Given the description of an element on the screen output the (x, y) to click on. 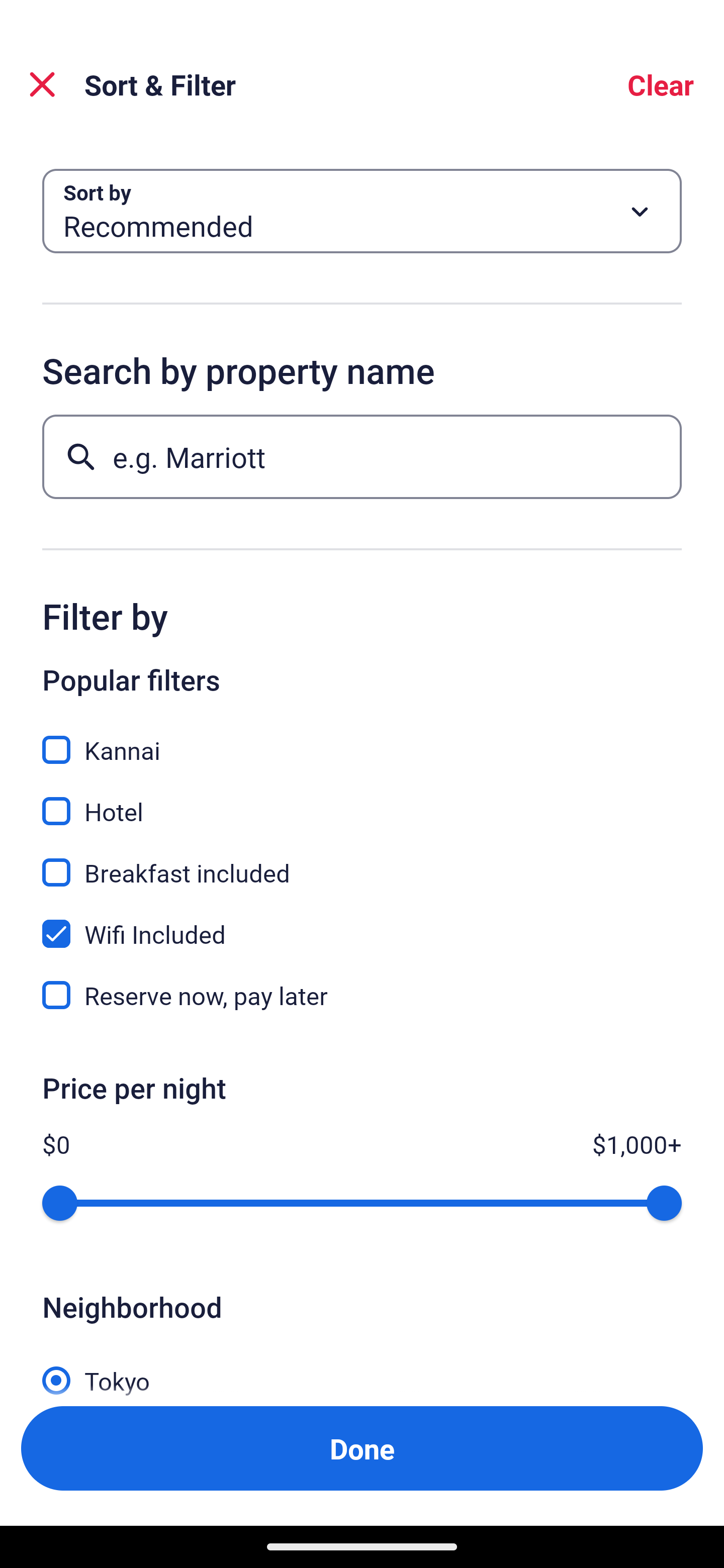
Close Sort and Filter (42, 84)
Clear (660, 84)
Sort by Button Recommended (361, 211)
e.g. Marriott Button (361, 455)
Kannai, Kannai (361, 738)
Hotel, Hotel (361, 800)
Breakfast included, Breakfast included (361, 861)
Wifi Included, Wifi Included (361, 922)
Reserve now, pay later, Reserve now, pay later (361, 995)
Apply and close Sort and Filter Done (361, 1448)
